Given the description of an element on the screen output the (x, y) to click on. 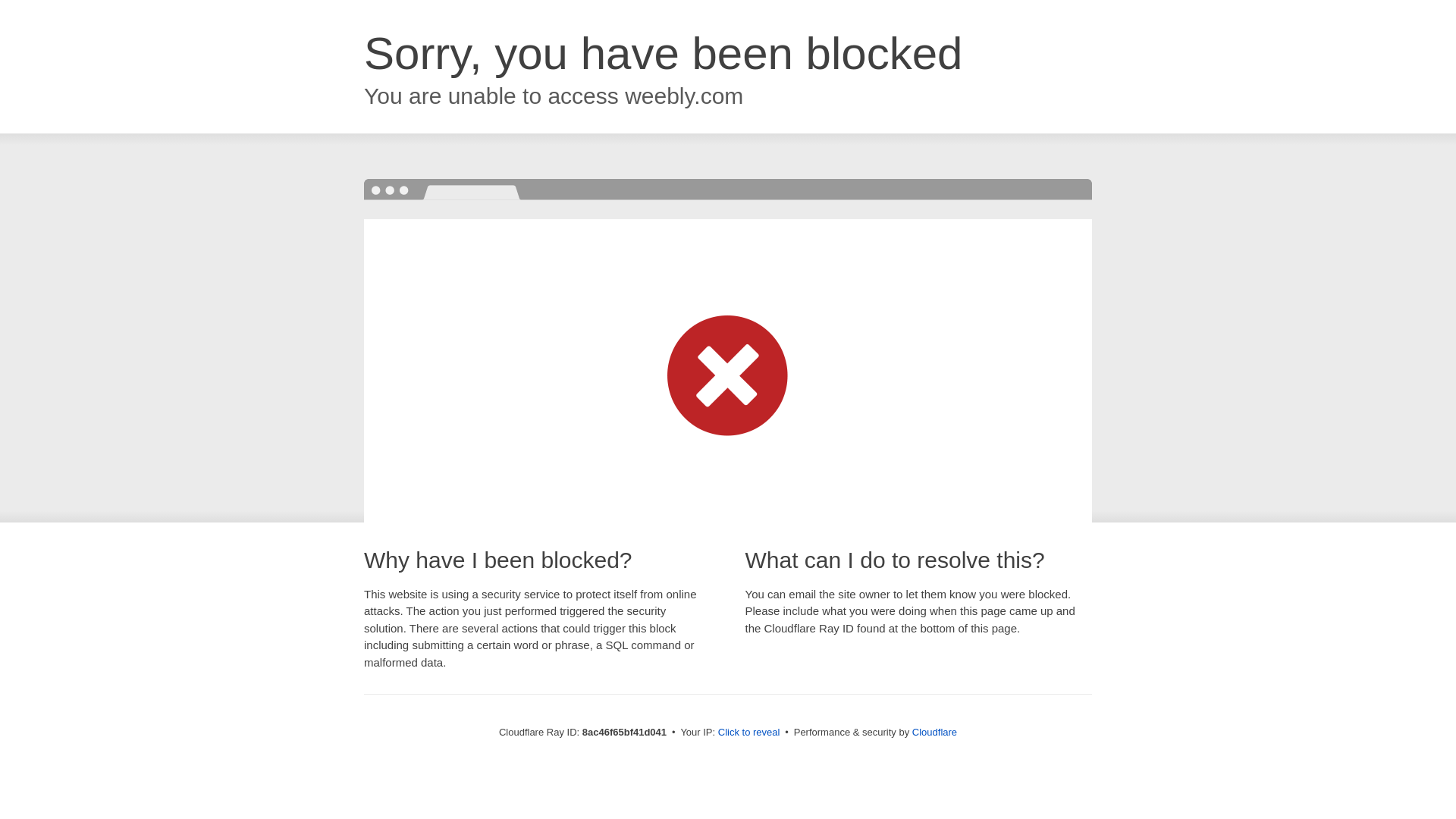
Click to reveal (748, 732)
Cloudflare (934, 731)
